Given the description of an element on the screen output the (x, y) to click on. 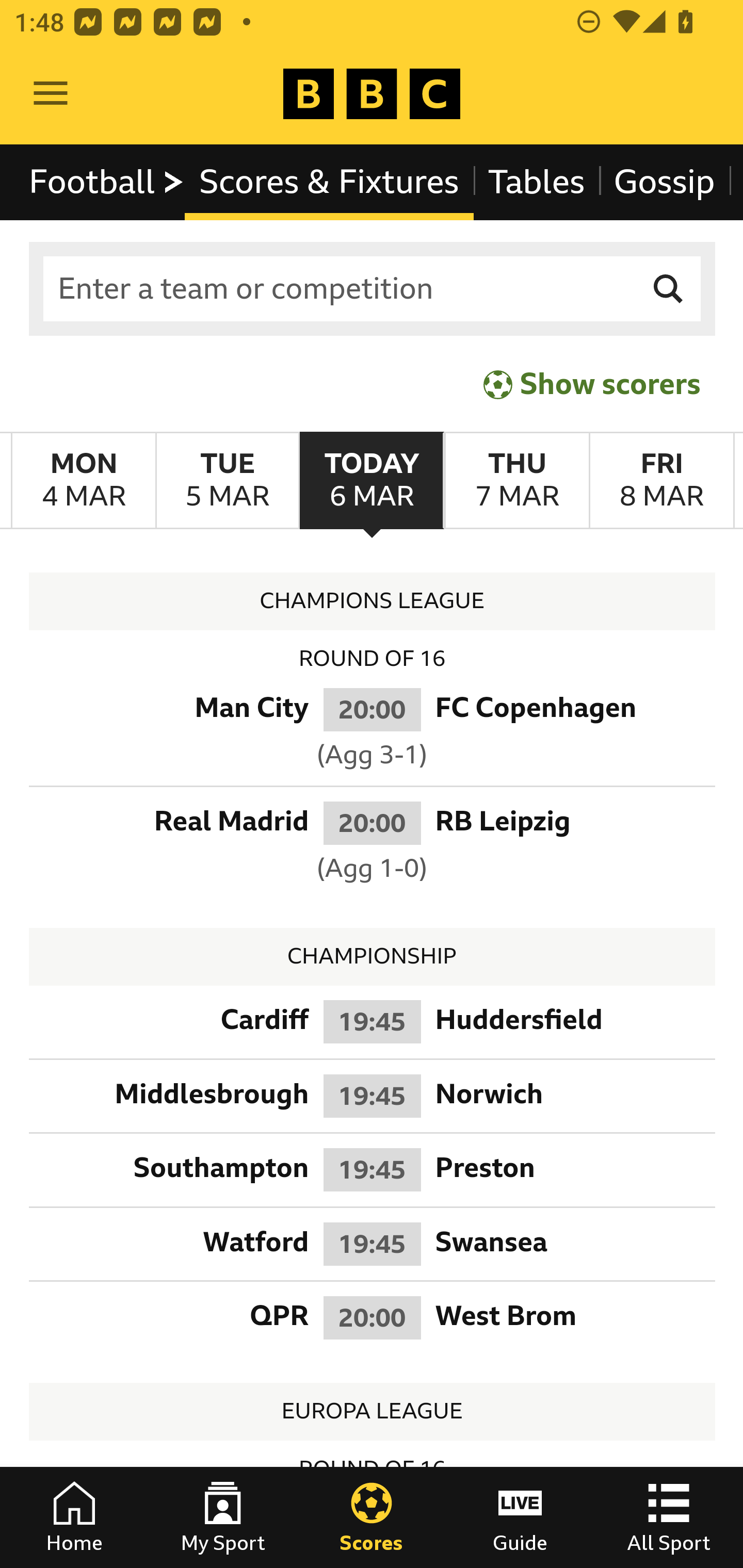
Open Menu (50, 93)
Football  (106, 181)
Scores & Fixtures (329, 181)
Tables (536, 181)
Gossip (664, 181)
Search (669, 289)
Show scorers (591, 383)
MondayMarch 4th Monday March 4th (83, 480)
TuesdayMarch 5th Tuesday March 5th (227, 480)
ThursdayMarch 7th Thursday March 7th (516, 480)
FridayMarch 8th Friday March 8th (661, 480)
Home (74, 1517)
My Sport (222, 1517)
Guide (519, 1517)
All Sport (668, 1517)
